Given the description of an element on the screen output the (x, y) to click on. 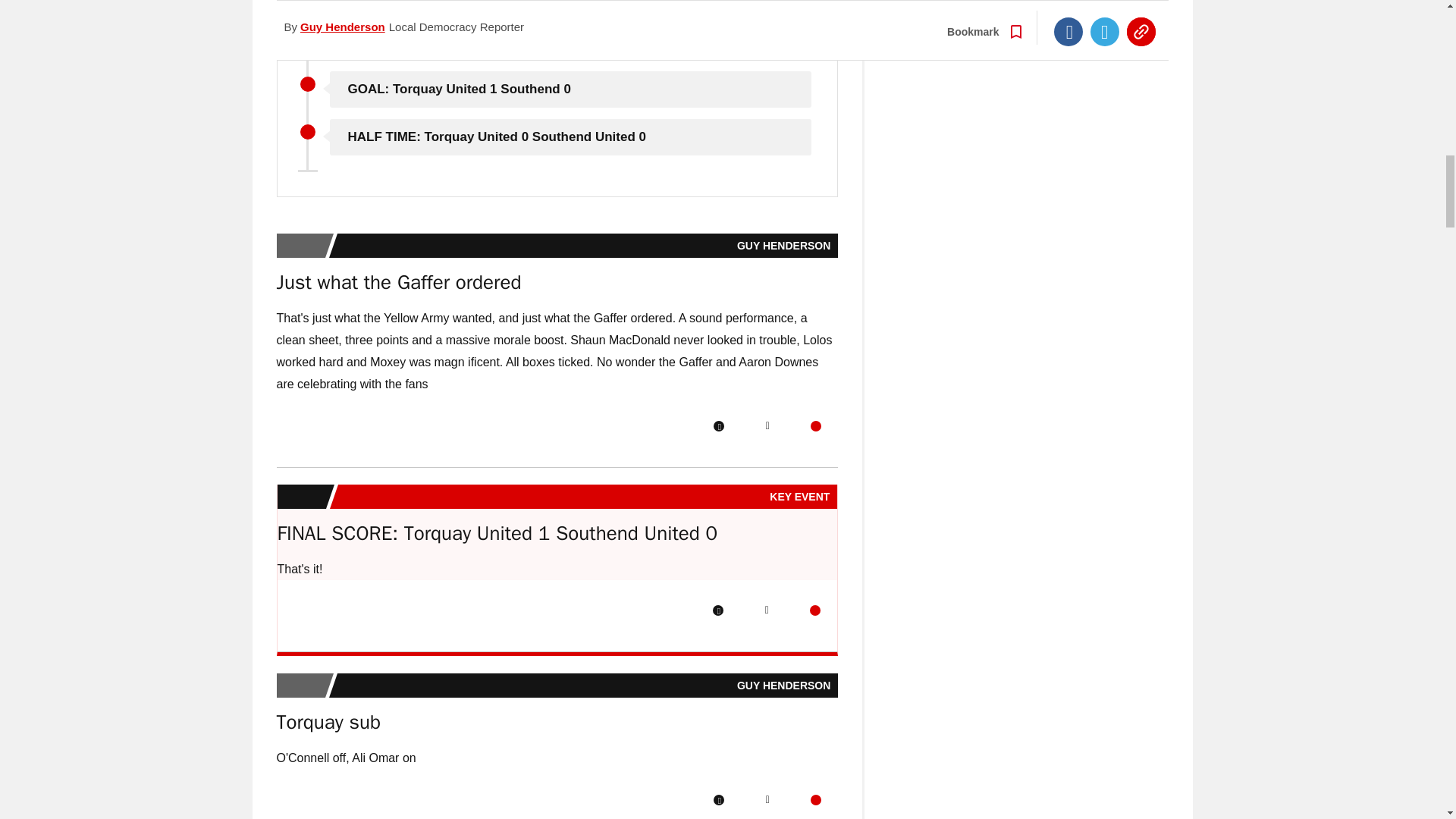
Facebook (718, 610)
Twitter (767, 425)
Twitter (766, 610)
Facebook (718, 799)
Facebook (718, 425)
Twitter (767, 799)
